Given the description of an element on the screen output the (x, y) to click on. 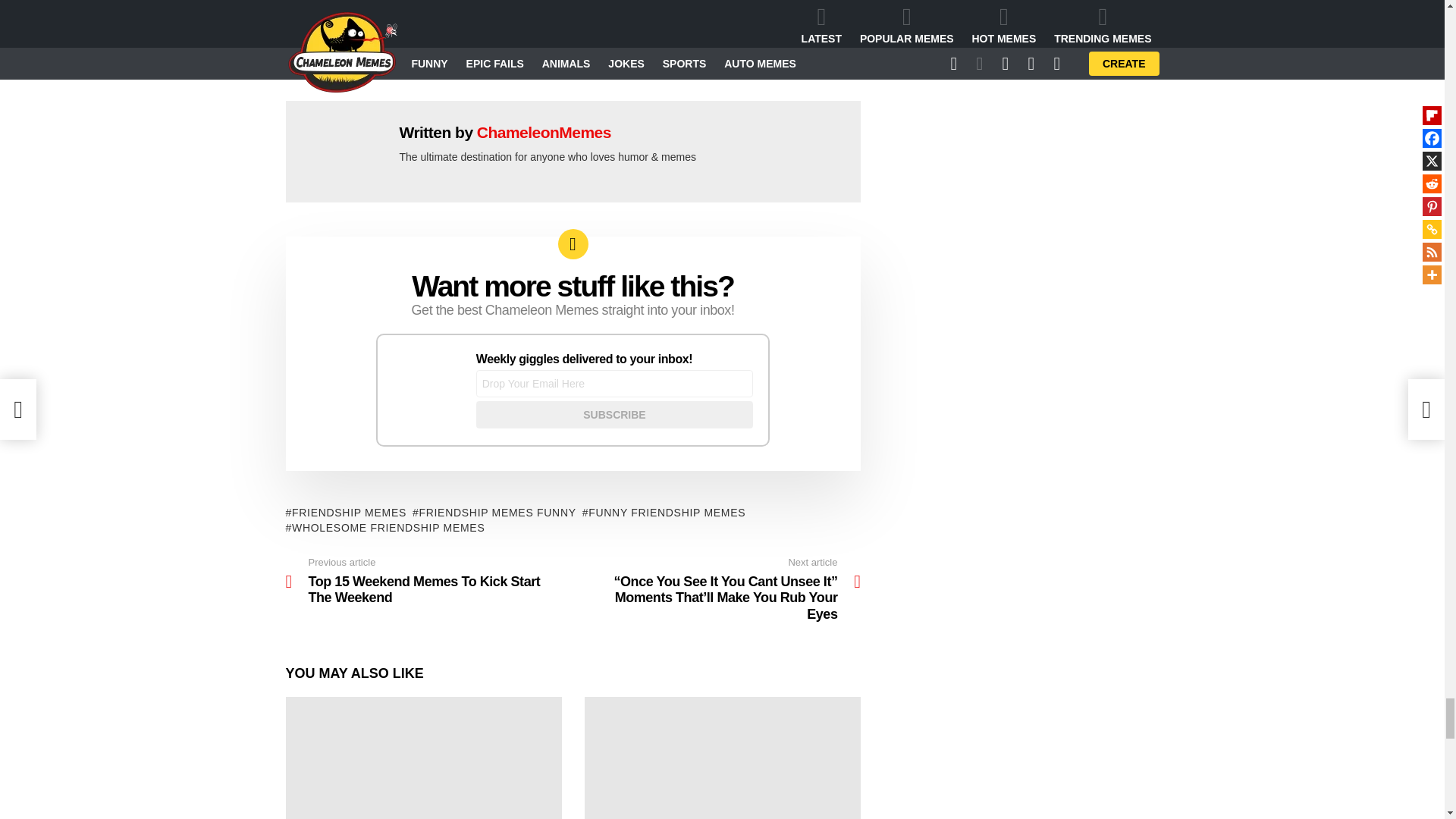
Subscribe (615, 414)
